Given the description of an element on the screen output the (x, y) to click on. 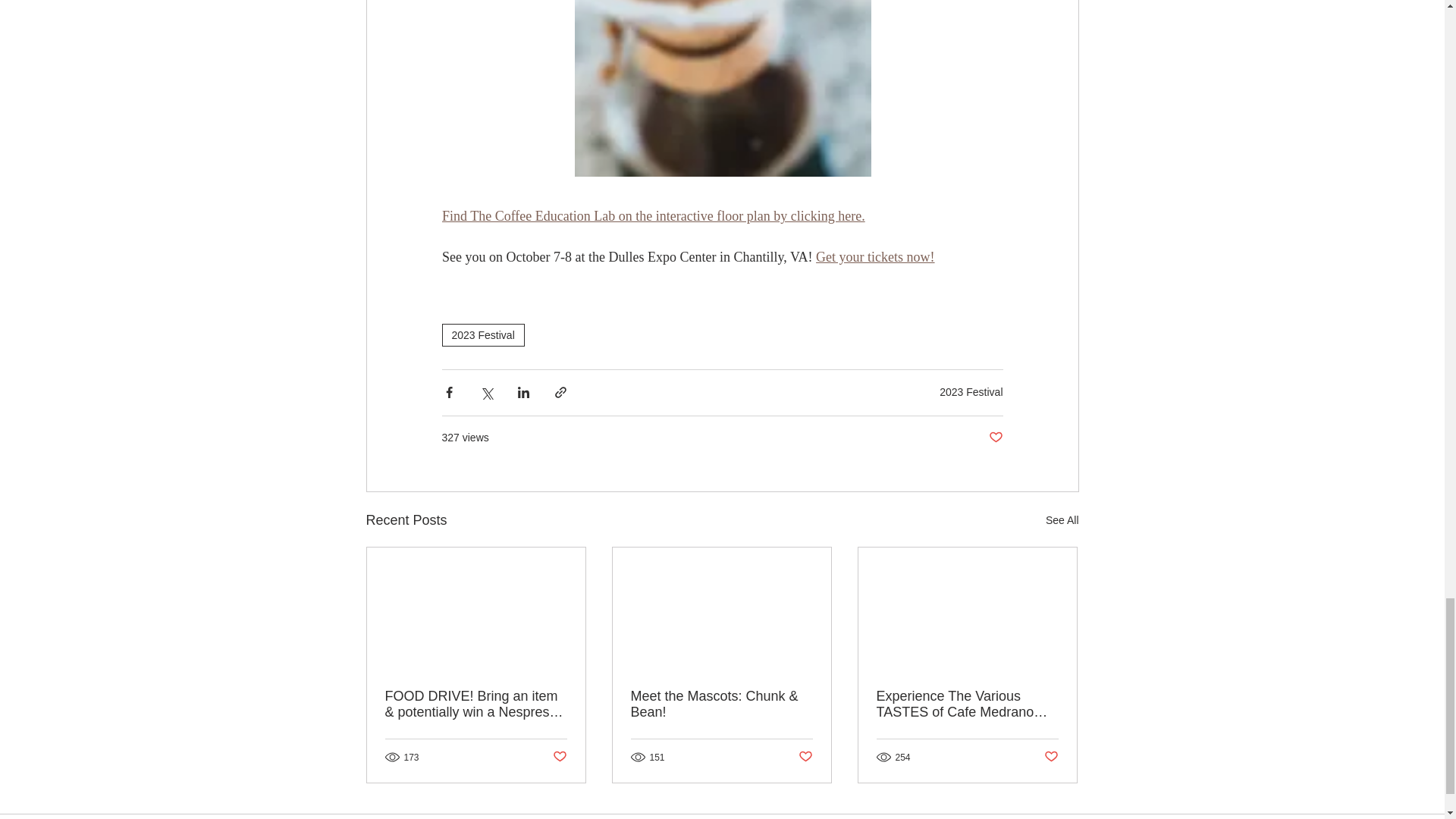
2023 Festival (482, 334)
Post not marked as liked (1050, 756)
Get your tickets now! (874, 257)
Post not marked as liked (558, 756)
Post not marked as liked (995, 437)
2023 Festival (971, 391)
Post not marked as liked (804, 756)
See All (1061, 520)
